Given the description of an element on the screen output the (x, y) to click on. 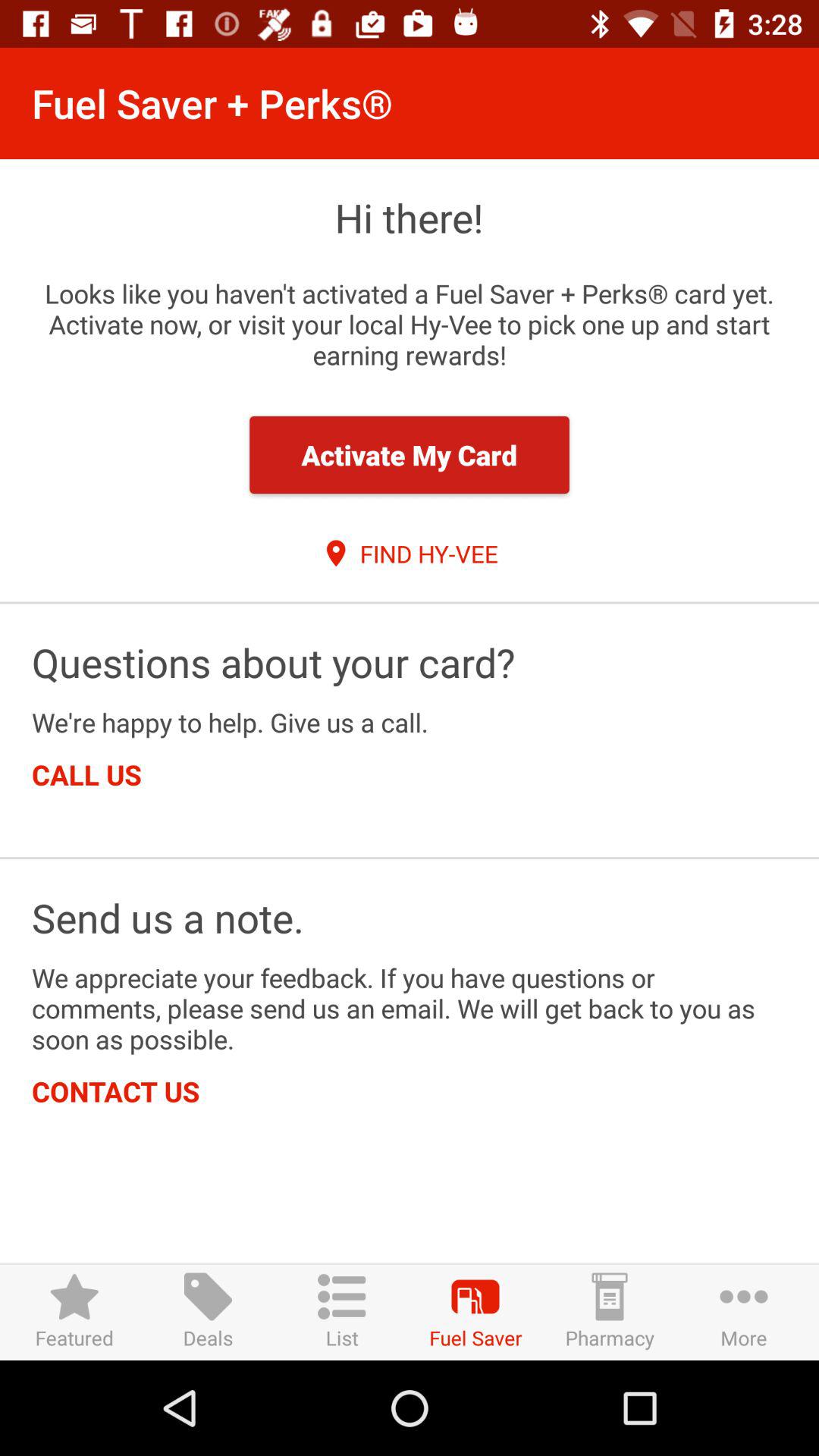
turn off the item to the left of fuel saver item (341, 1311)
